Given the description of an element on the screen output the (x, y) to click on. 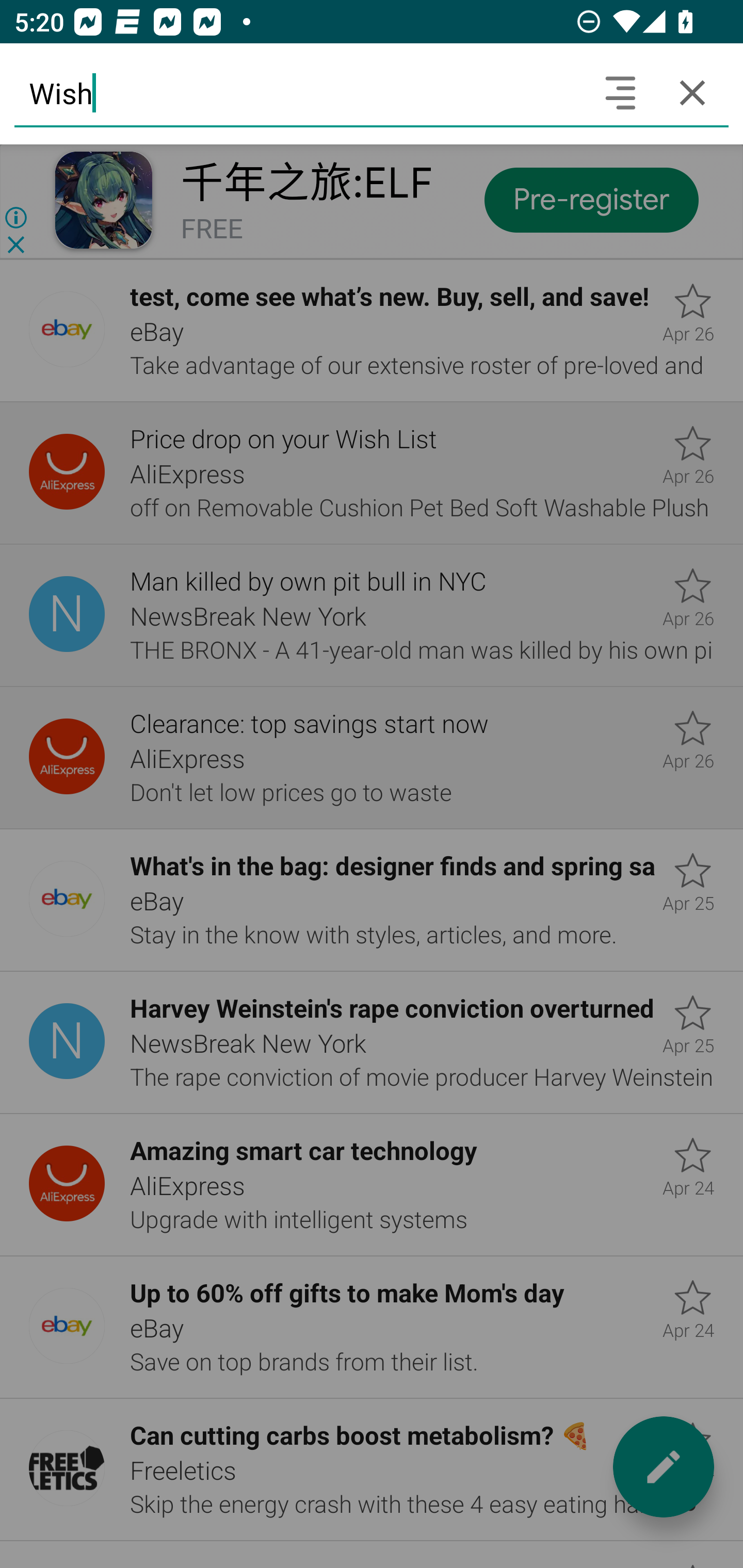
Wish (298, 92)
Search headers and text (619, 92)
Cancel (692, 92)
